Given the description of an element on the screen output the (x, y) to click on. 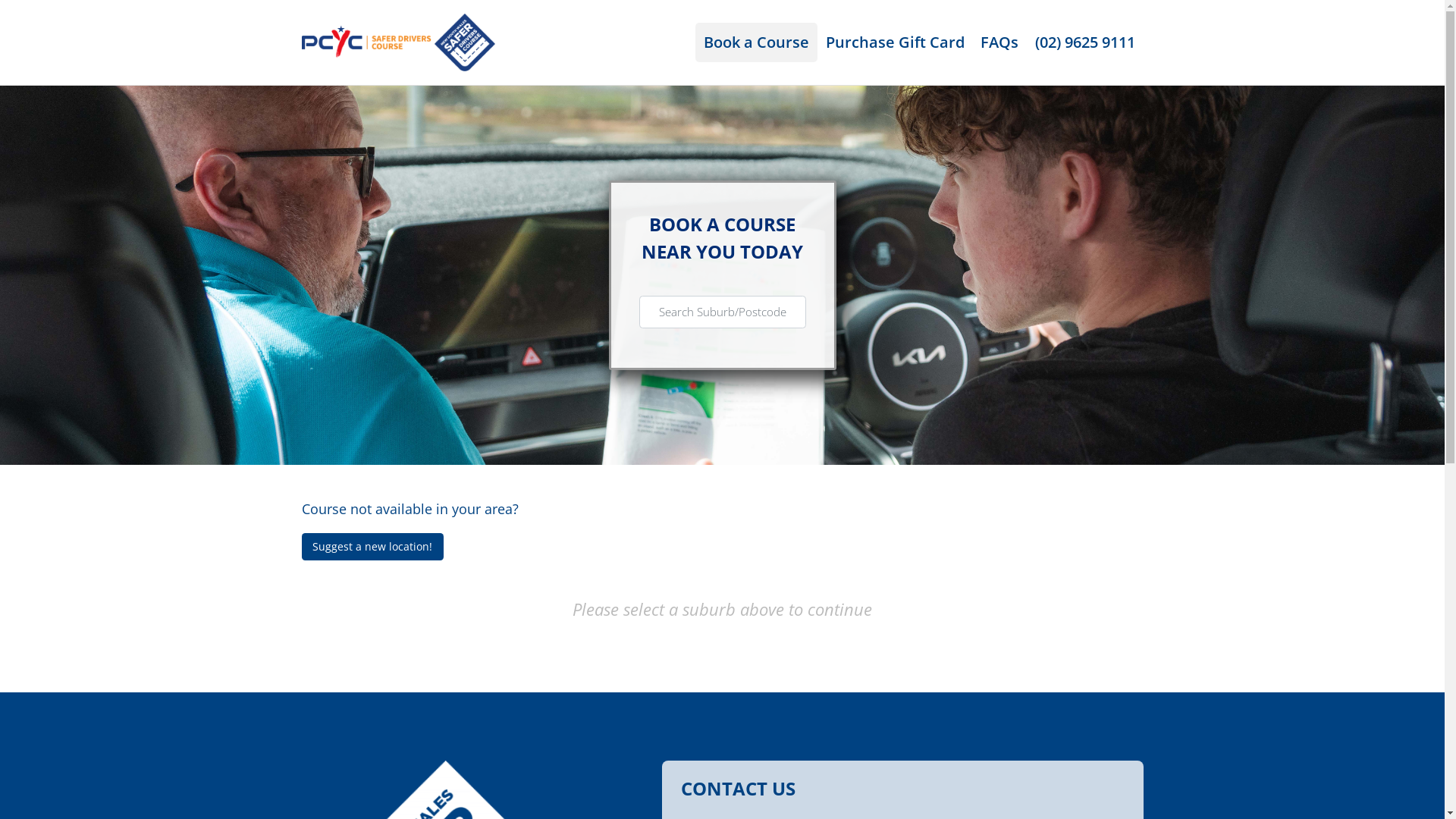
Book a Course Element type: text (756, 42)
Purchase Gift Card Element type: text (894, 42)
(02) 9625 9111 Element type: text (1084, 42)
FAQs Element type: text (999, 42)
Suggest a new location! Element type: text (372, 546)
PCYC Safer Drivers Course Element type: hover (398, 40)
